Given the description of an element on the screen output the (x, y) to click on. 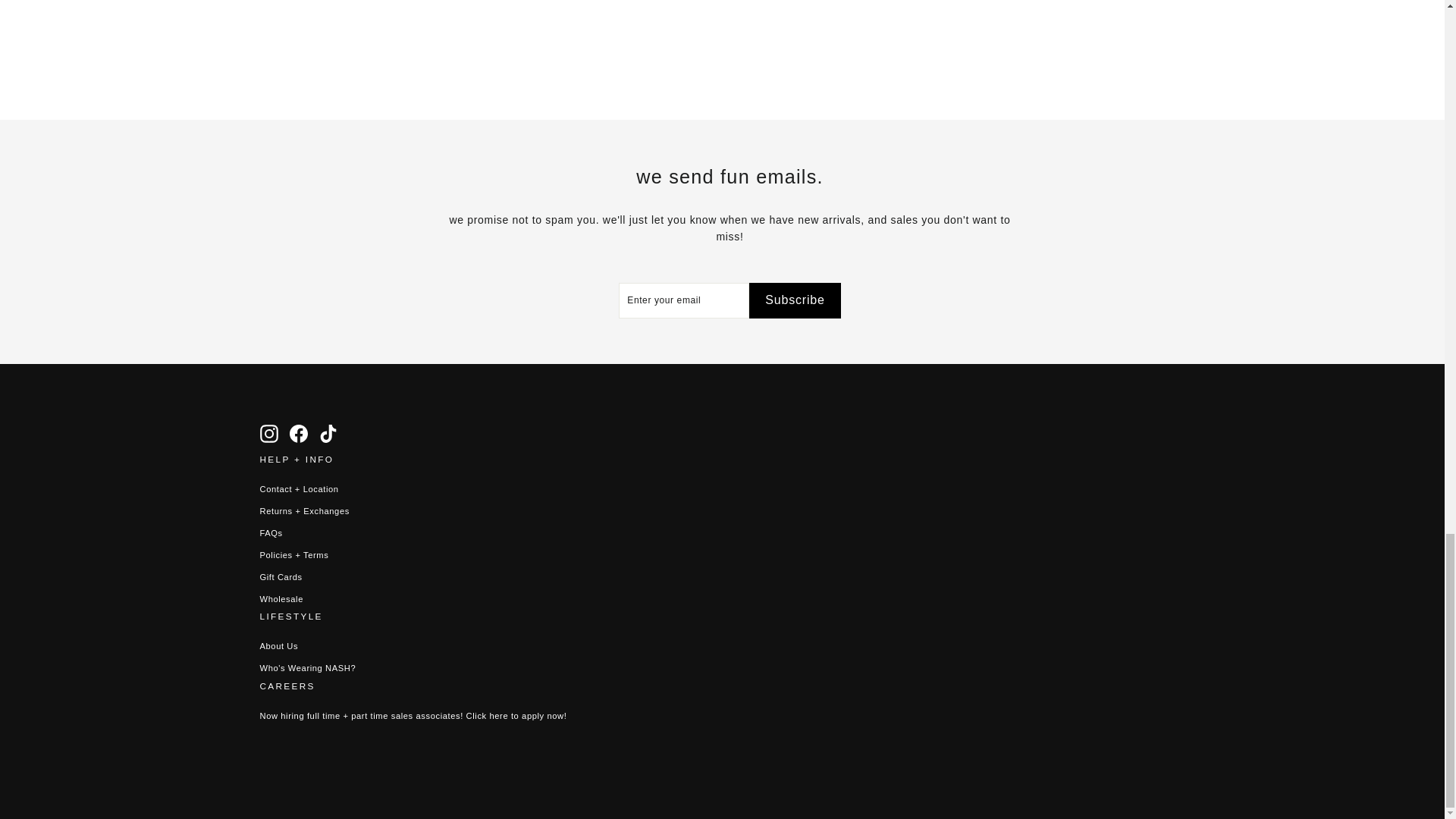
instagram (268, 434)
The Nash Collection on Instagram (268, 434)
The Nash Collection on Facebook (298, 434)
The Nash Collection on TikTok (327, 434)
